Given the description of an element on the screen output the (x, y) to click on. 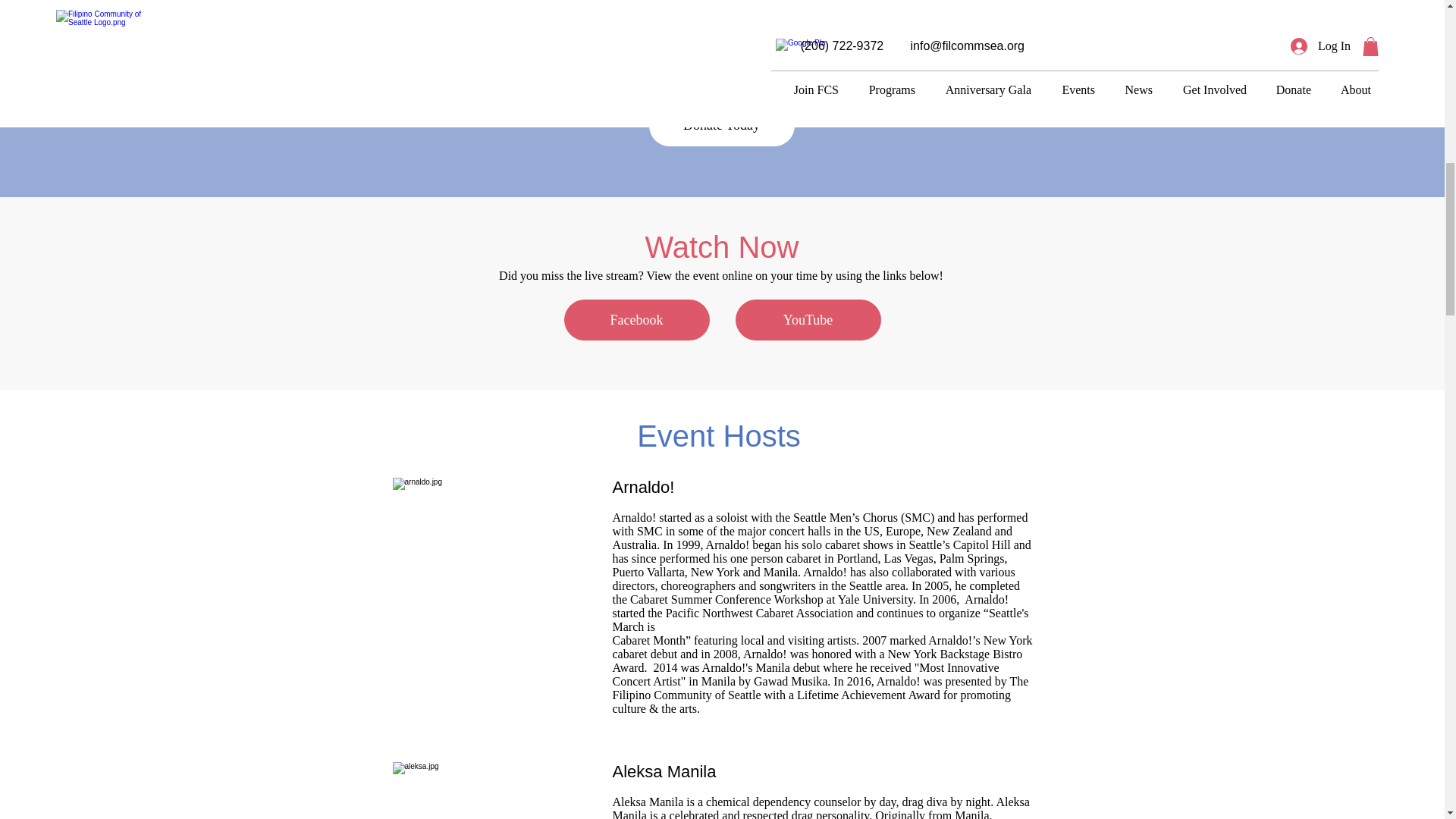
Facebook (637, 319)
YouTube (807, 319)
Donate Today (721, 125)
